Given the description of an element on the screen output the (x, y) to click on. 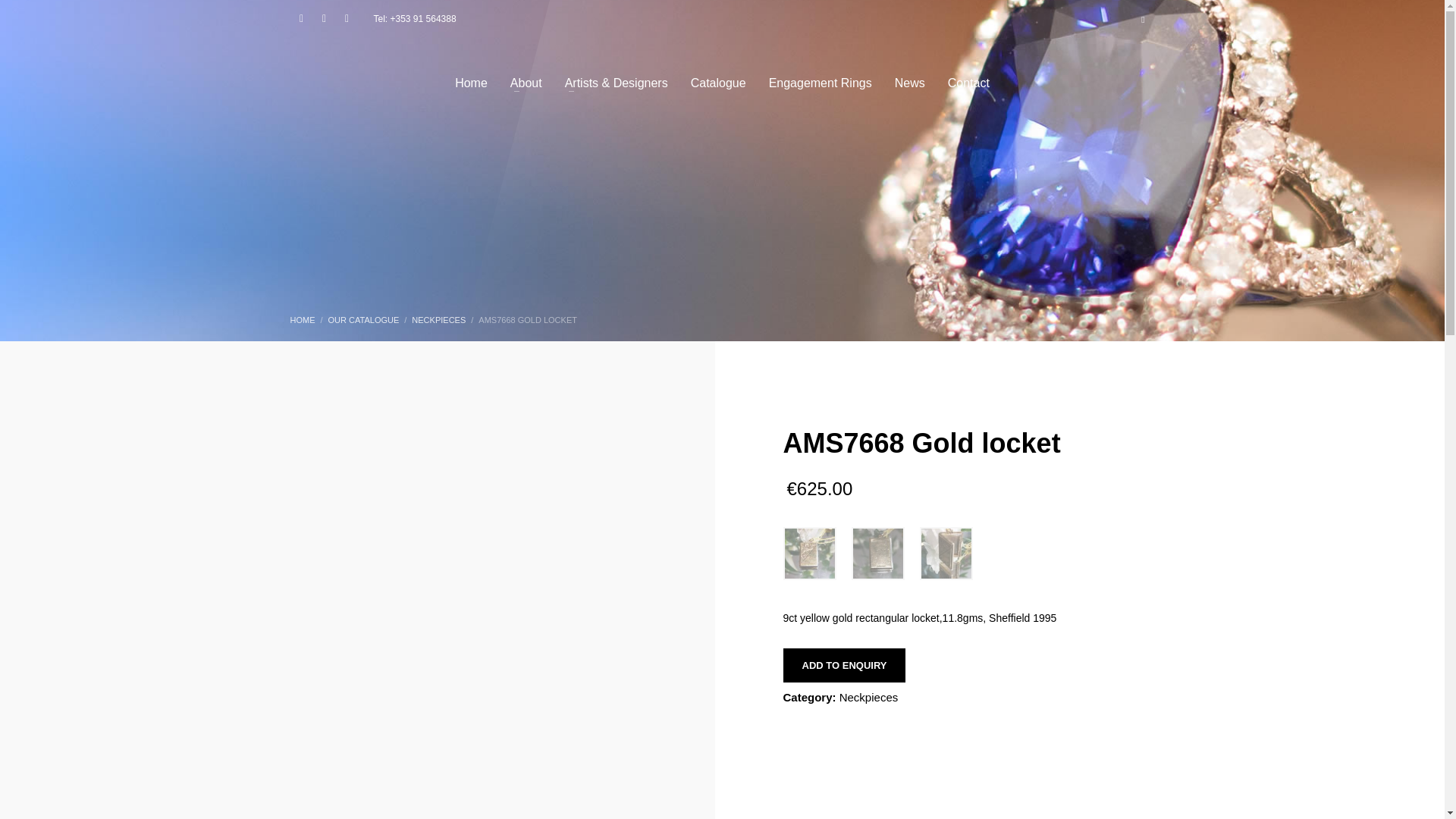
Facebook (301, 18)
OUR CATALOGUE (363, 319)
oznor (877, 552)
Engagement Rings (820, 81)
ADD TO ENQUIRY (844, 664)
NECKPIECES (438, 319)
oznor (945, 552)
HOME (301, 319)
oznor (809, 552)
Instagram (323, 18)
